Given the description of an element on the screen output the (x, y) to click on. 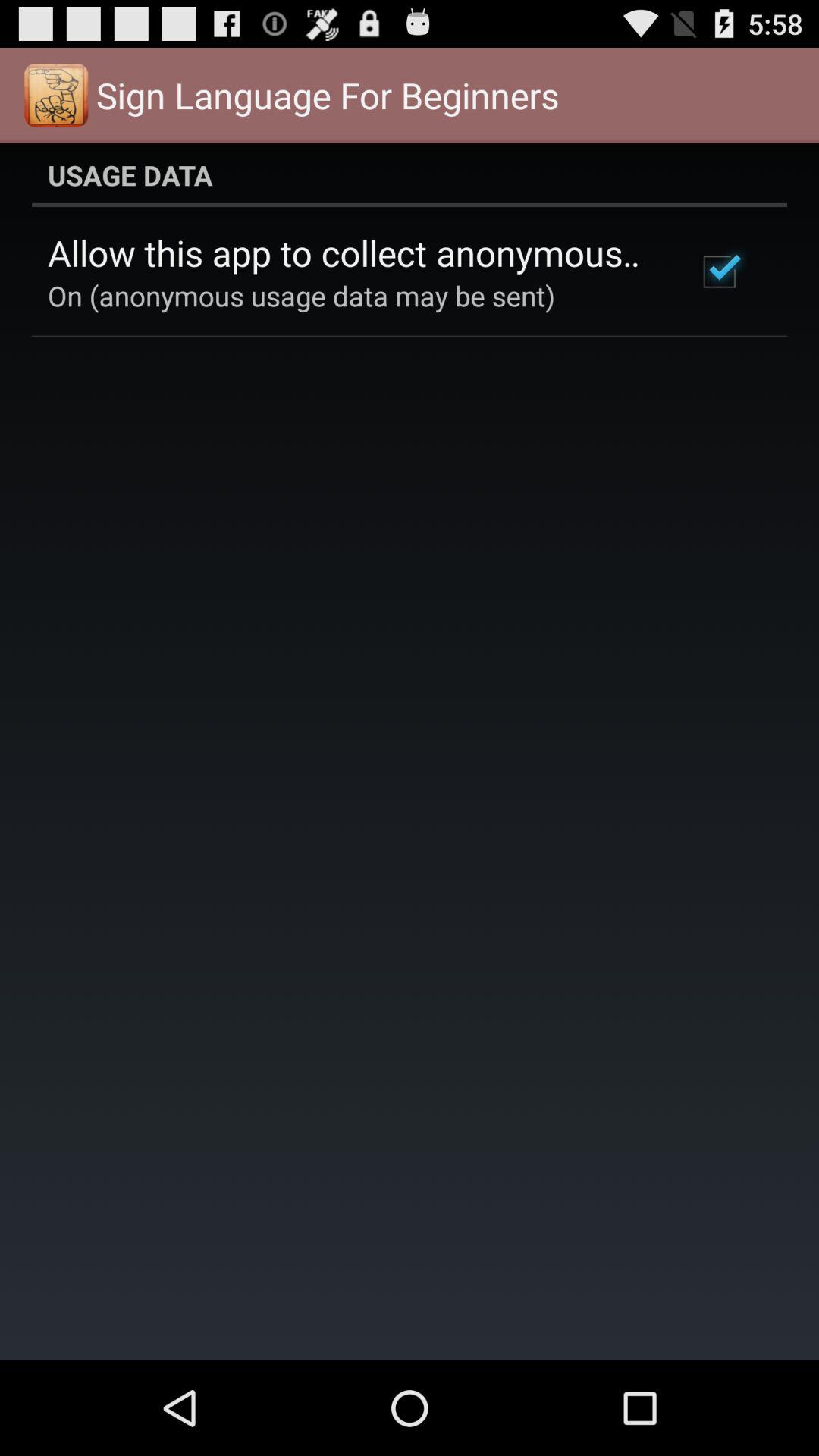
swipe to the allow this app app (351, 252)
